Given the description of an element on the screen output the (x, y) to click on. 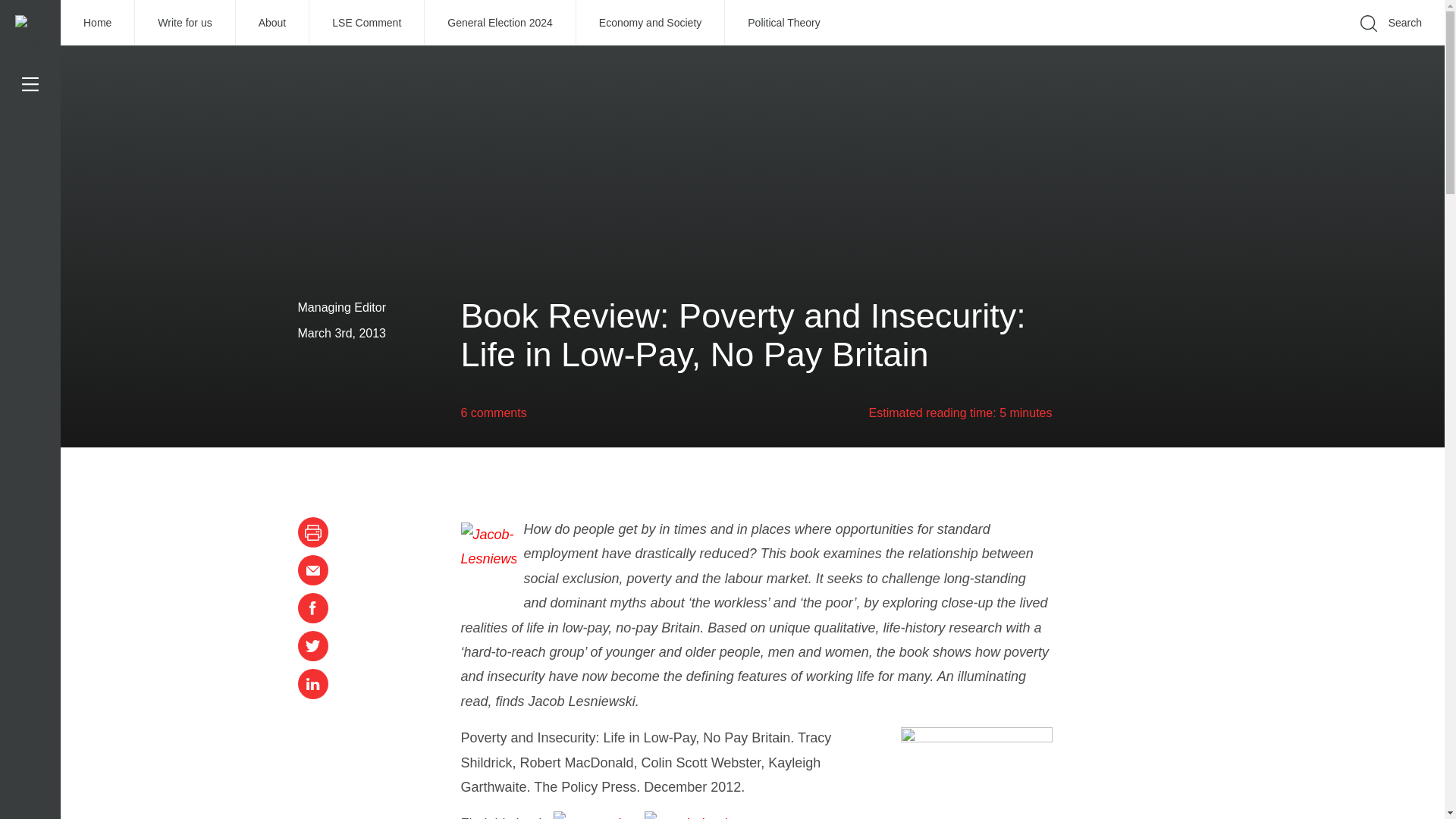
General Election 2024 (500, 22)
Go (1190, 44)
Political Theory (784, 22)
About (272, 22)
Home (98, 22)
Write for us (184, 22)
LSE Comment (366, 22)
6 comments (494, 412)
Economy and Society (650, 22)
